Given the description of an element on the screen output the (x, y) to click on. 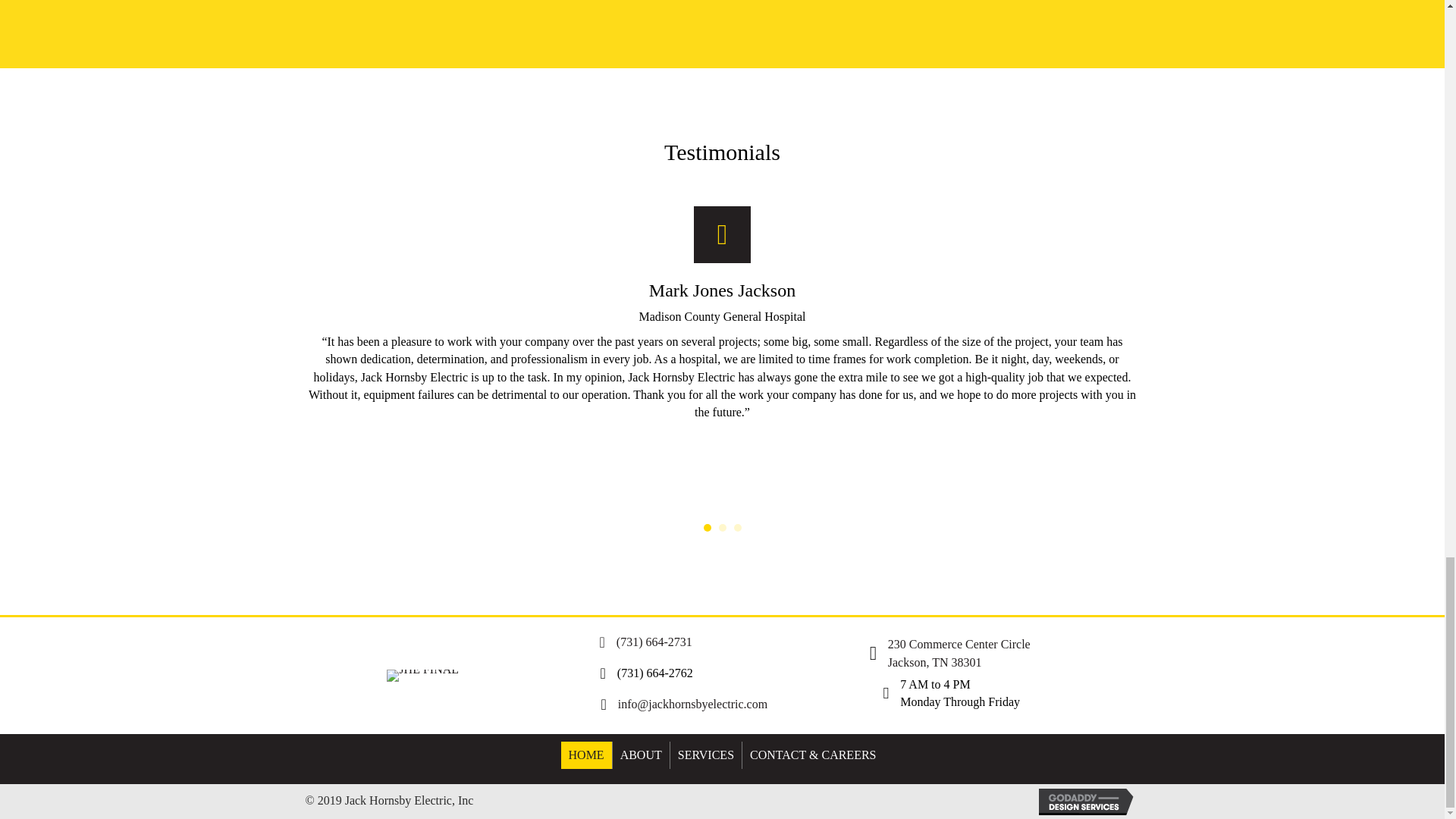
1 (707, 527)
JHE FINAL (422, 675)
SERVICES (705, 755)
HOME (585, 755)
3 (737, 527)
2 (722, 527)
ABOUT (640, 755)
